Given the description of an element on the screen output the (x, y) to click on. 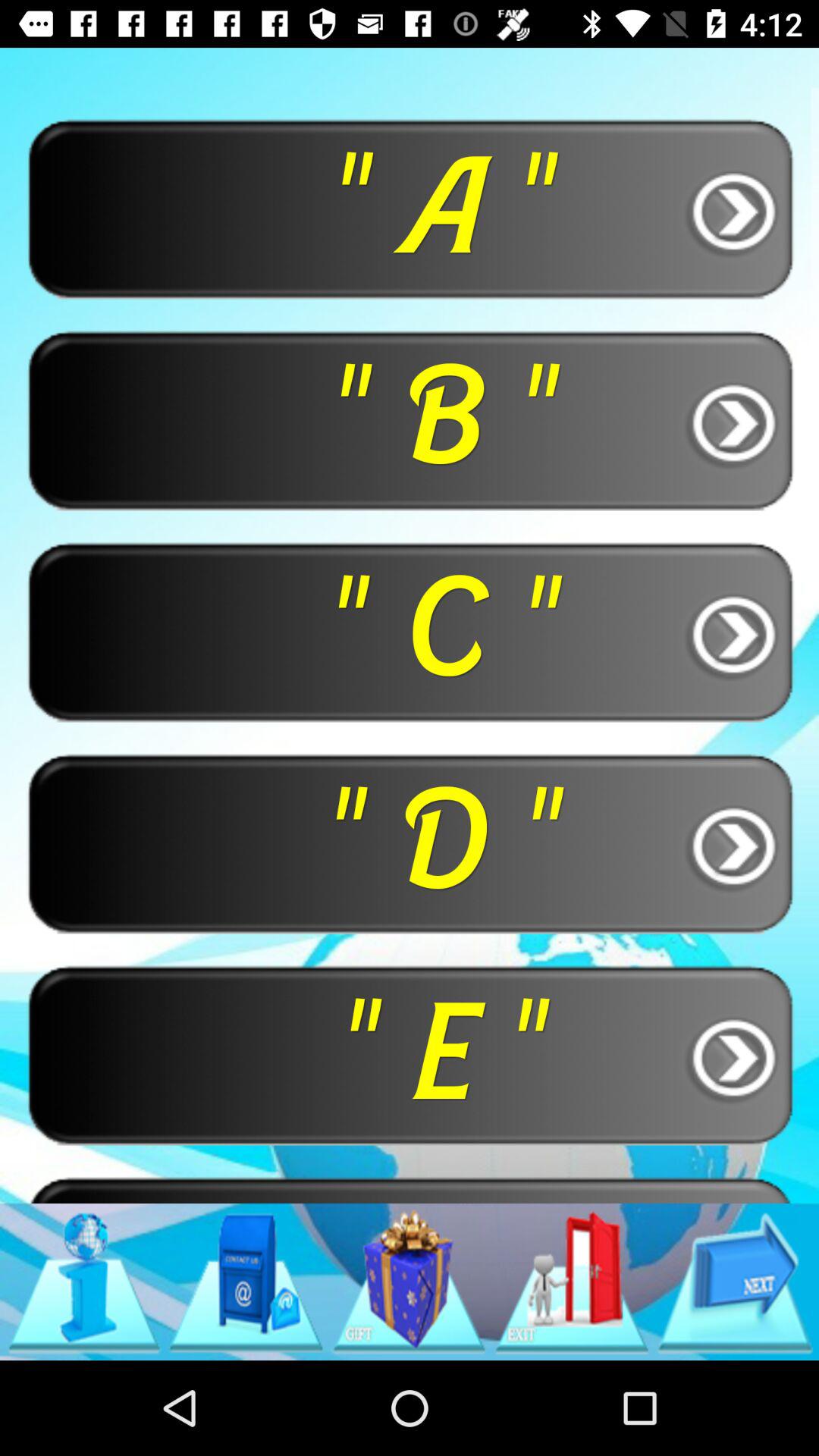
tap icon below the   " f " button (734, 1281)
